Given the description of an element on the screen output the (x, y) to click on. 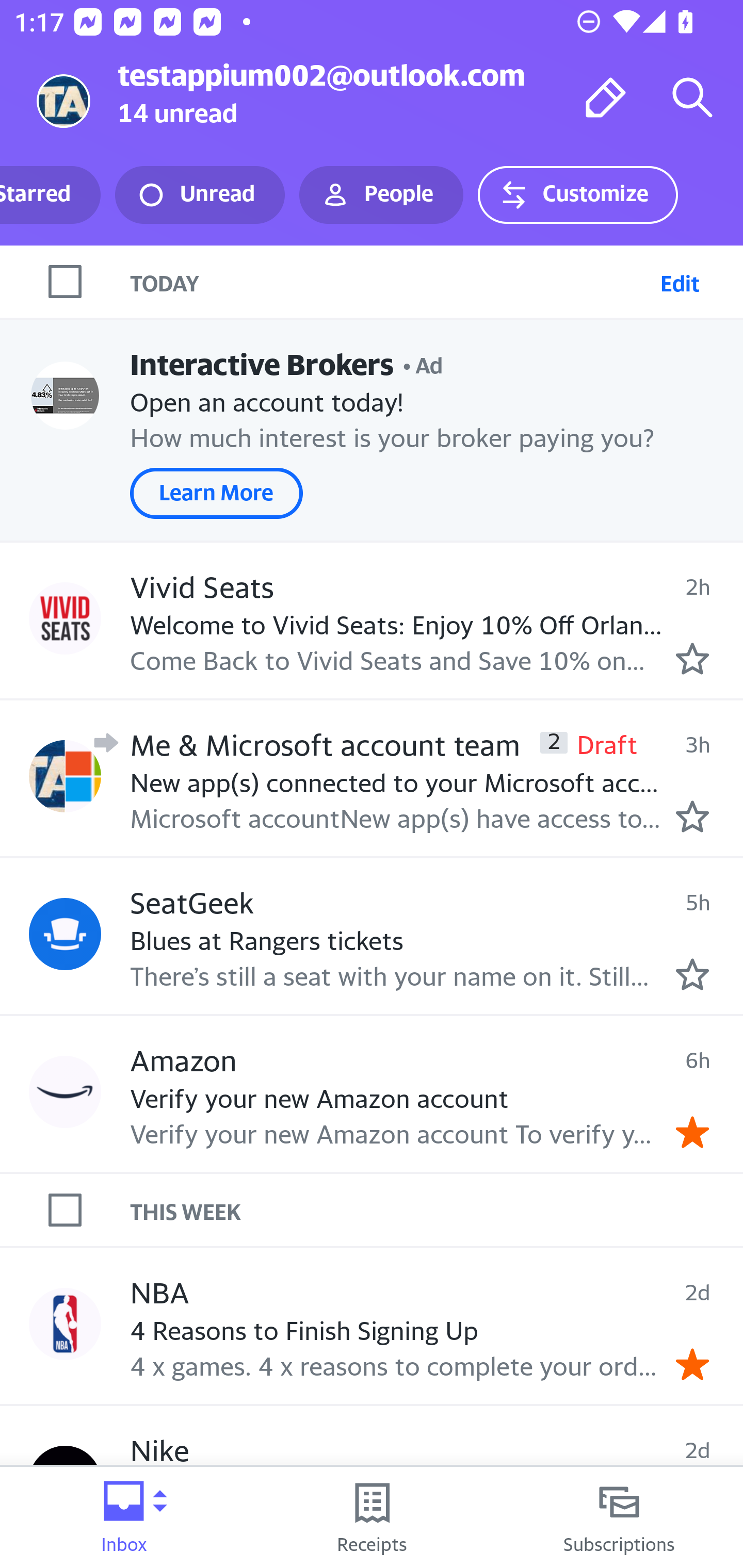
Compose (605, 97)
Search mail (692, 97)
Unread (199, 195)
People (381, 195)
Customize (577, 195)
TODAY (391, 281)
Edit Select emails (679, 281)
Profile
Vivid Seats (64, 617)
Mark as starred. (692, 659)
Profile
Me & Microsoft account team (64, 776)
Mark as starred. (692, 816)
Profile
SeatGeek (64, 934)
Mark as starred. (692, 974)
Profile
Amazon (64, 1091)
Remove star. (692, 1132)
THIS WEEK (436, 1209)
Profile
NBA (64, 1323)
Remove star. (692, 1364)
Inbox Folder picker (123, 1517)
Receipts (371, 1517)
Subscriptions (619, 1517)
